Given the description of an element on the screen output the (x, y) to click on. 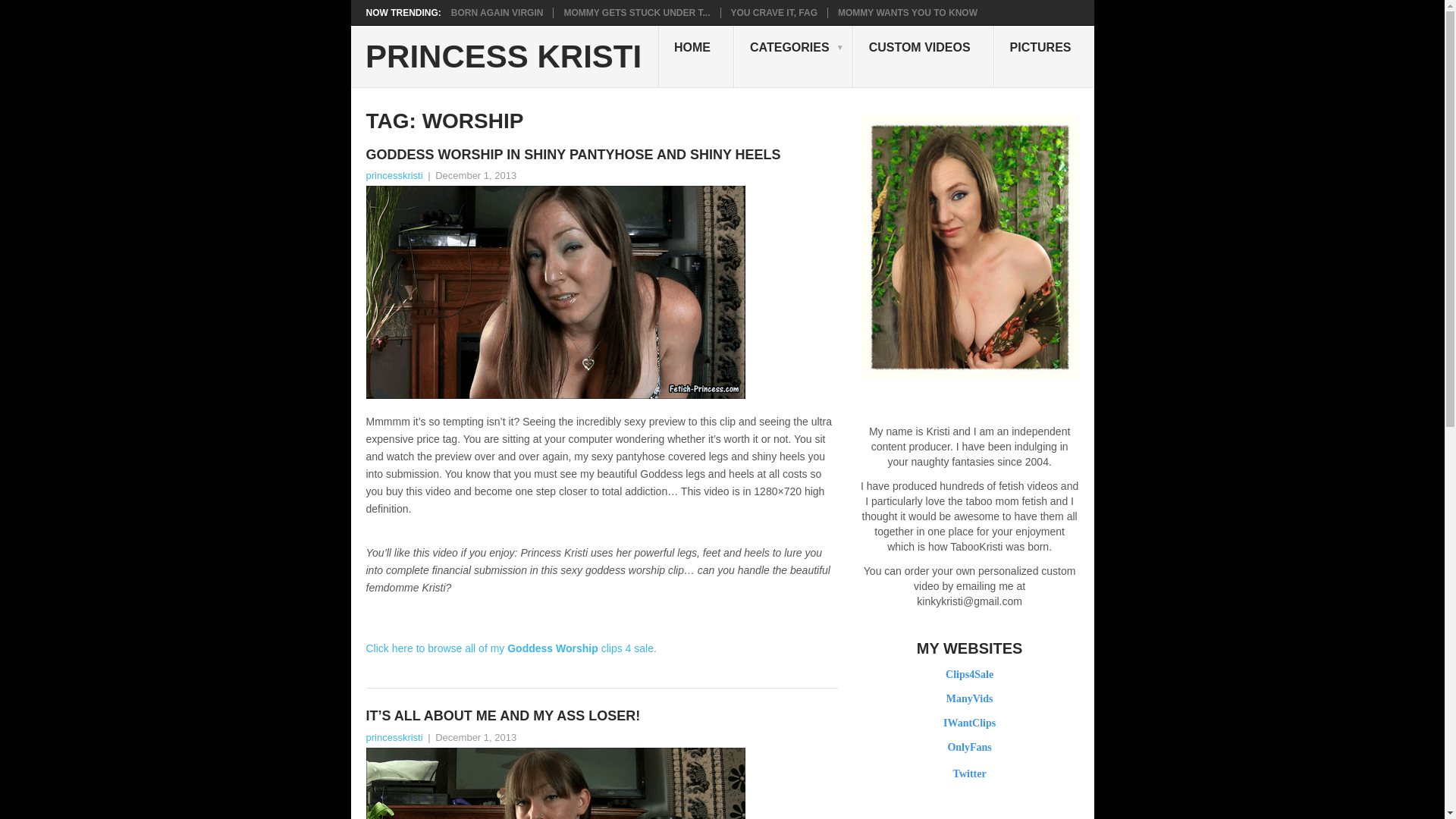
MOMMY WANTS YOU TO KNOW (907, 12)
Born Again Virgin (497, 12)
Mommy Wants You to Know (907, 12)
Posts by princesskristi (393, 737)
Posts by princesskristi (393, 174)
HOME (695, 56)
BORN AGAIN VIRGIN (497, 12)
MOMMY GETS STUCK UNDER T... (636, 12)
CATEGORIES (793, 56)
Goddess Worship in Shiny Pantyhose and Shiny Heels (601, 154)
